Given the description of an element on the screen output the (x, y) to click on. 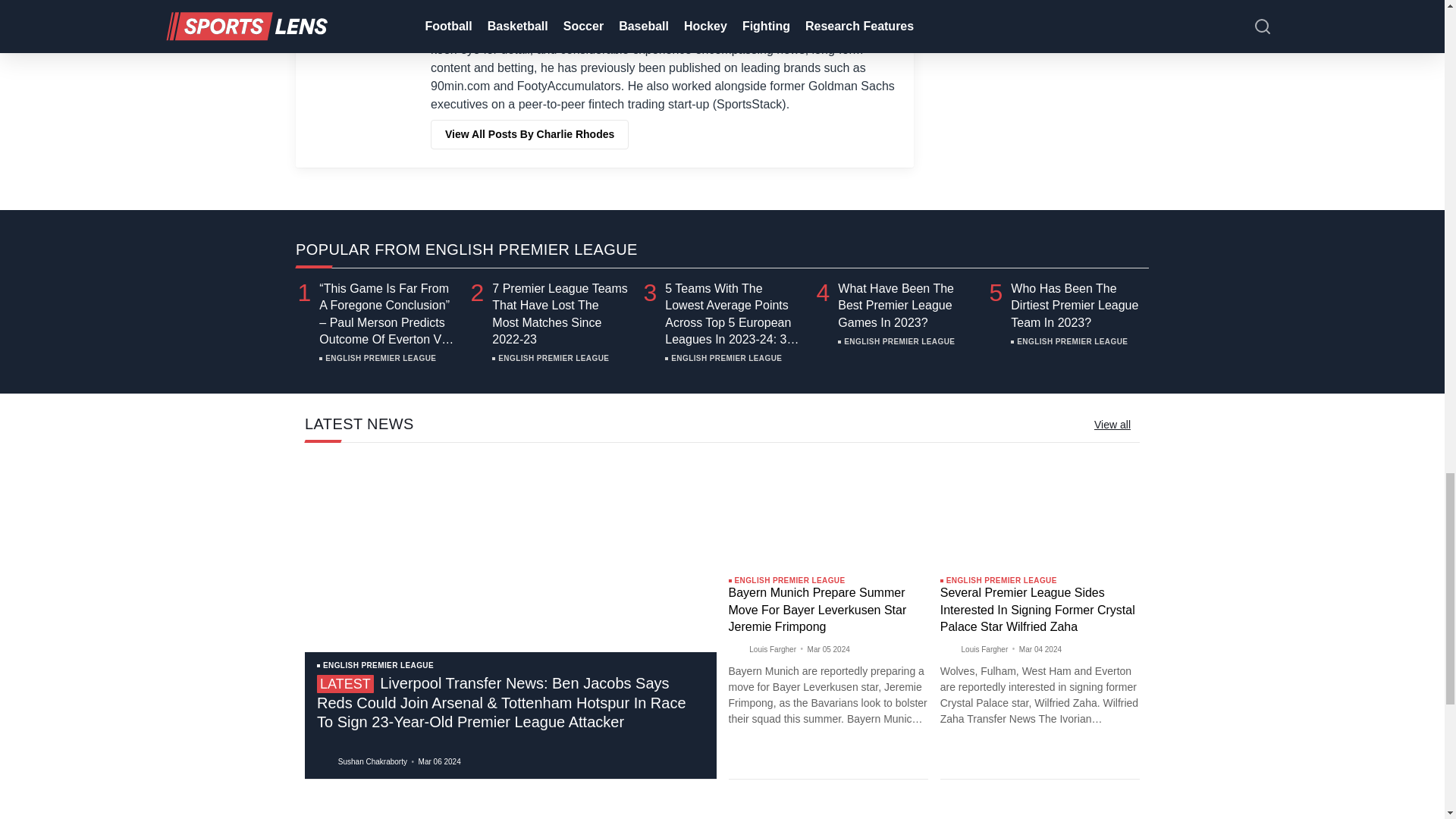
View All Posts By Charlie Rhodes (529, 134)
